Given the description of an element on the screen output the (x, y) to click on. 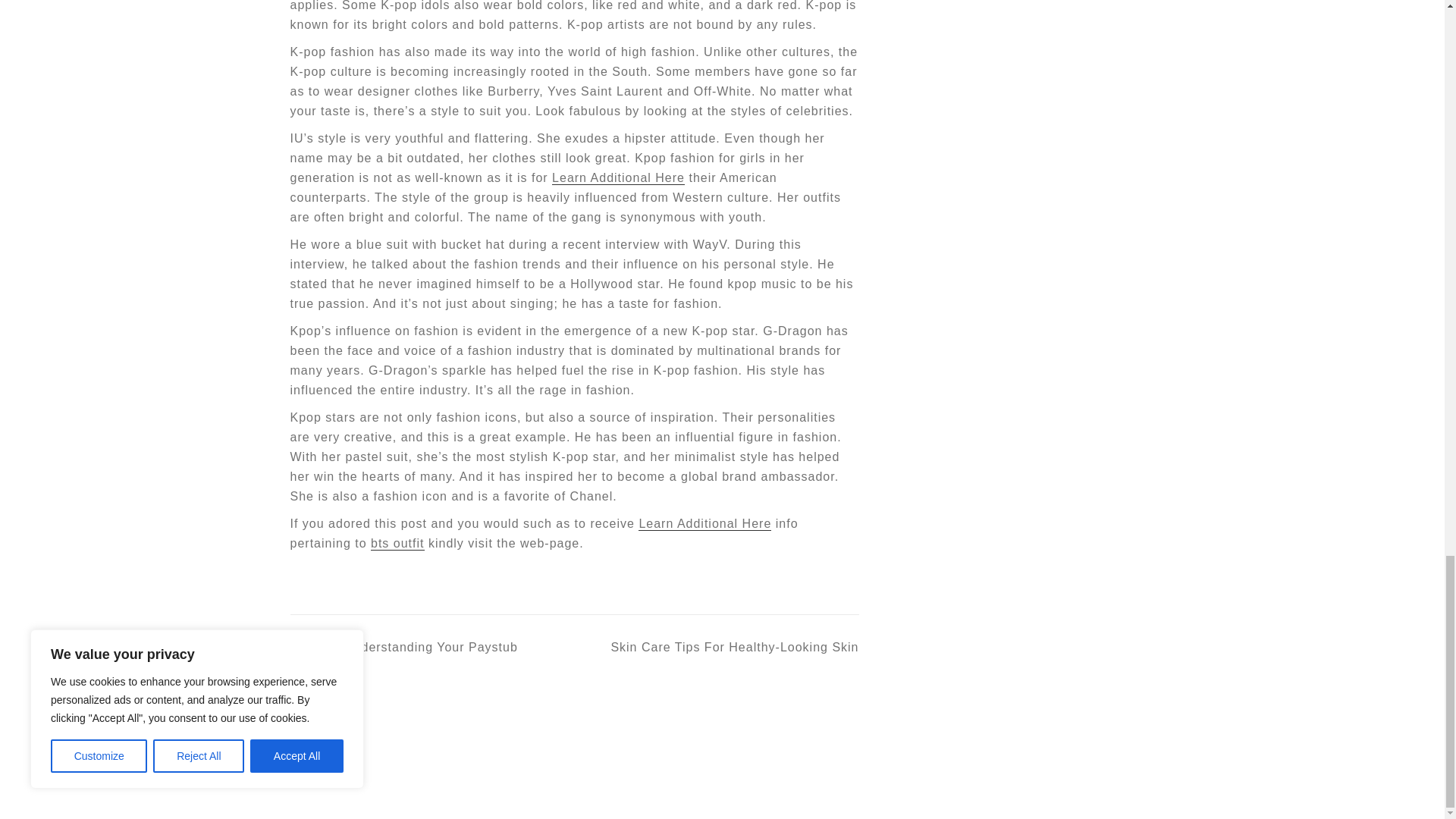
Learn Additional Here (617, 178)
Skin Care Tips For Healthy-Looking Skin (717, 647)
Learn Additional Here (705, 523)
Tips For Understanding Your Paystub (402, 647)
bts outfit (397, 543)
